Given the description of an element on the screen output the (x, y) to click on. 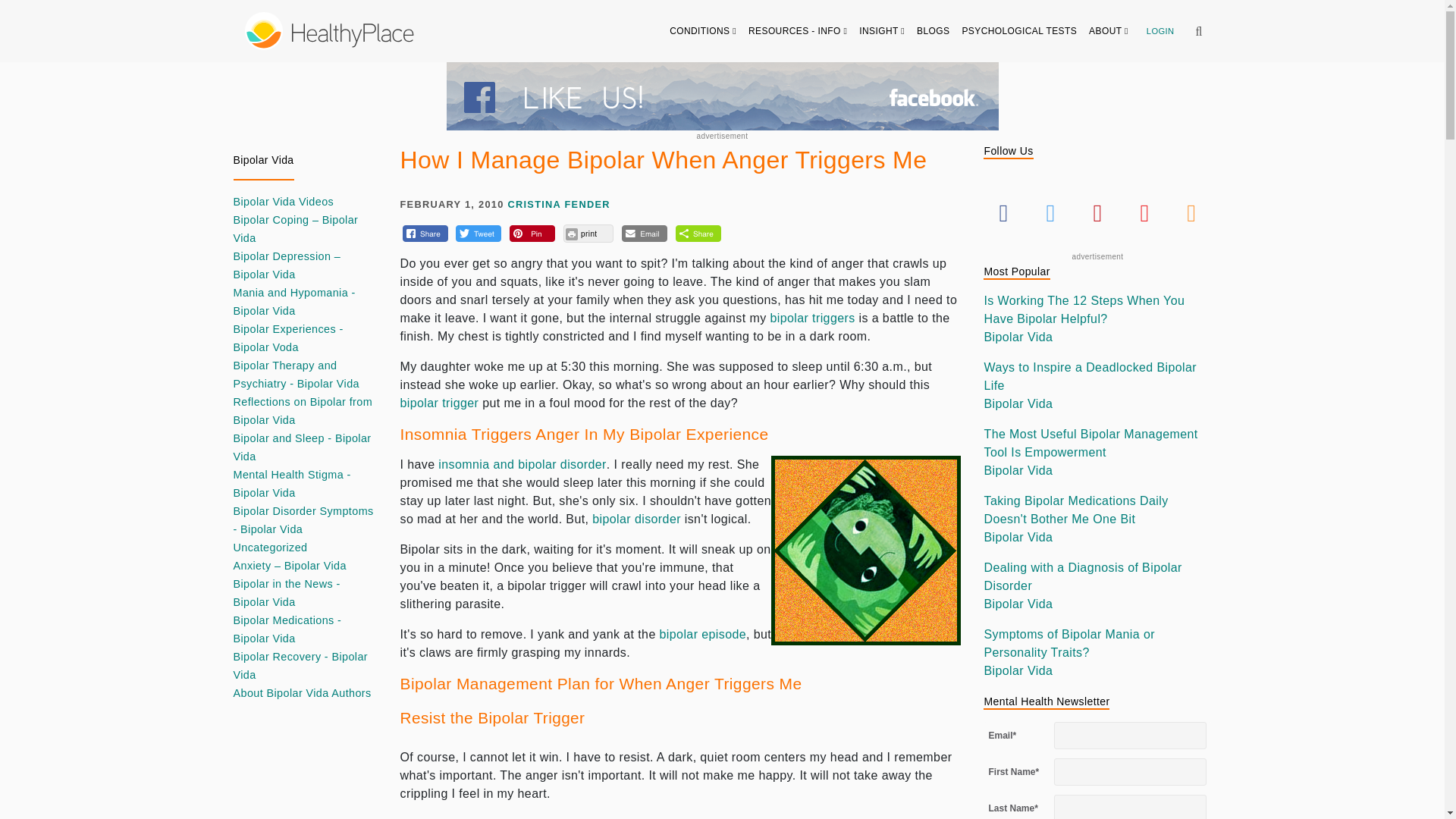
Video on Bipolar Triggers (439, 402)
Join our Facebook community for mental health support (721, 96)
How I Manage Bipolar When Anger Triggers Me (865, 550)
RESOURCES - INFO (797, 31)
Insomnia and Bipolar Disorder (521, 463)
INSIGHT (882, 31)
CONDITIONS (702, 31)
How I Felt Being Diagnosed with Bipolar Disorder (636, 518)
